Given the description of an element on the screen output the (x, y) to click on. 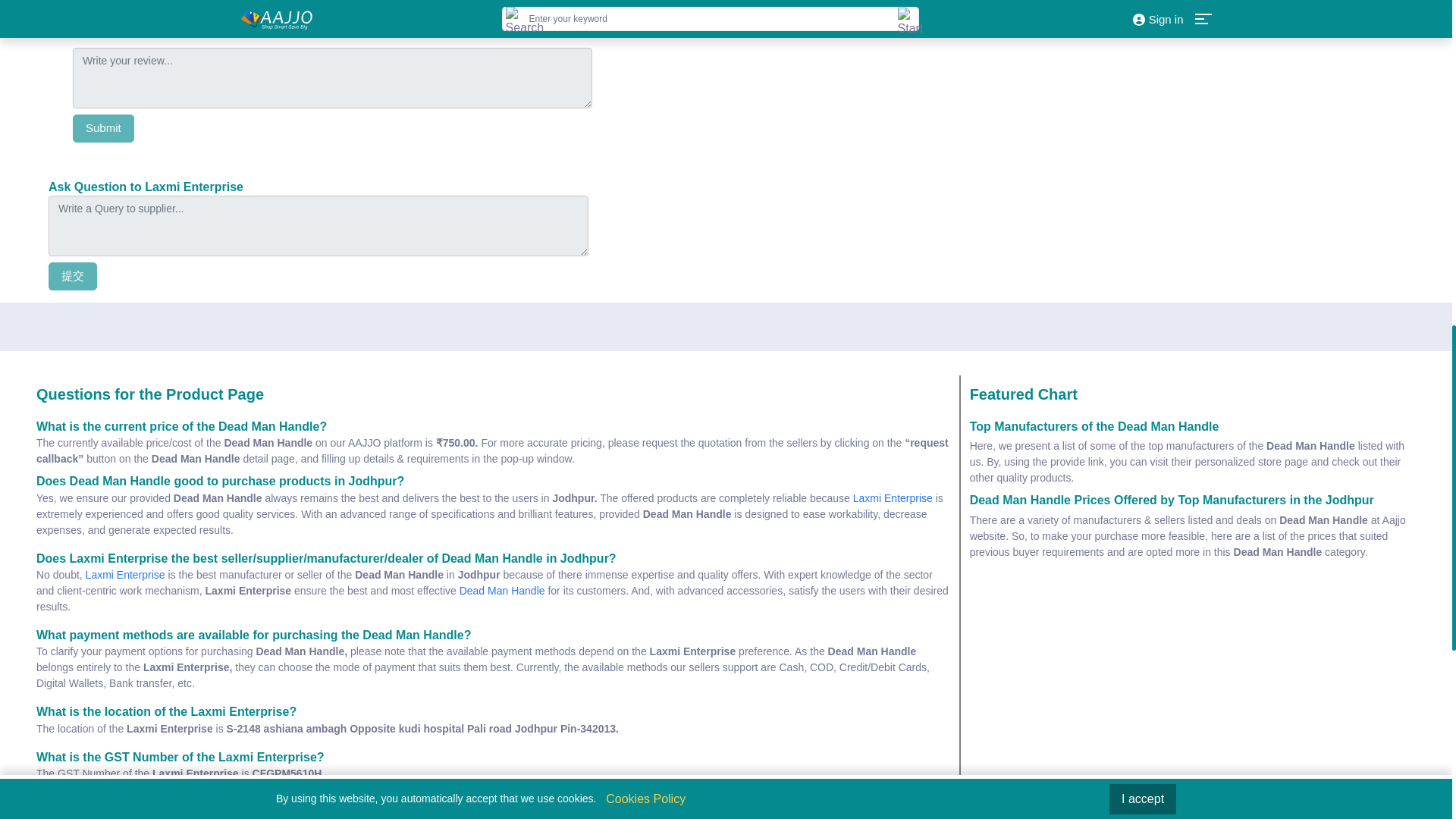
Submit (102, 128)
